Given the description of an element on the screen output the (x, y) to click on. 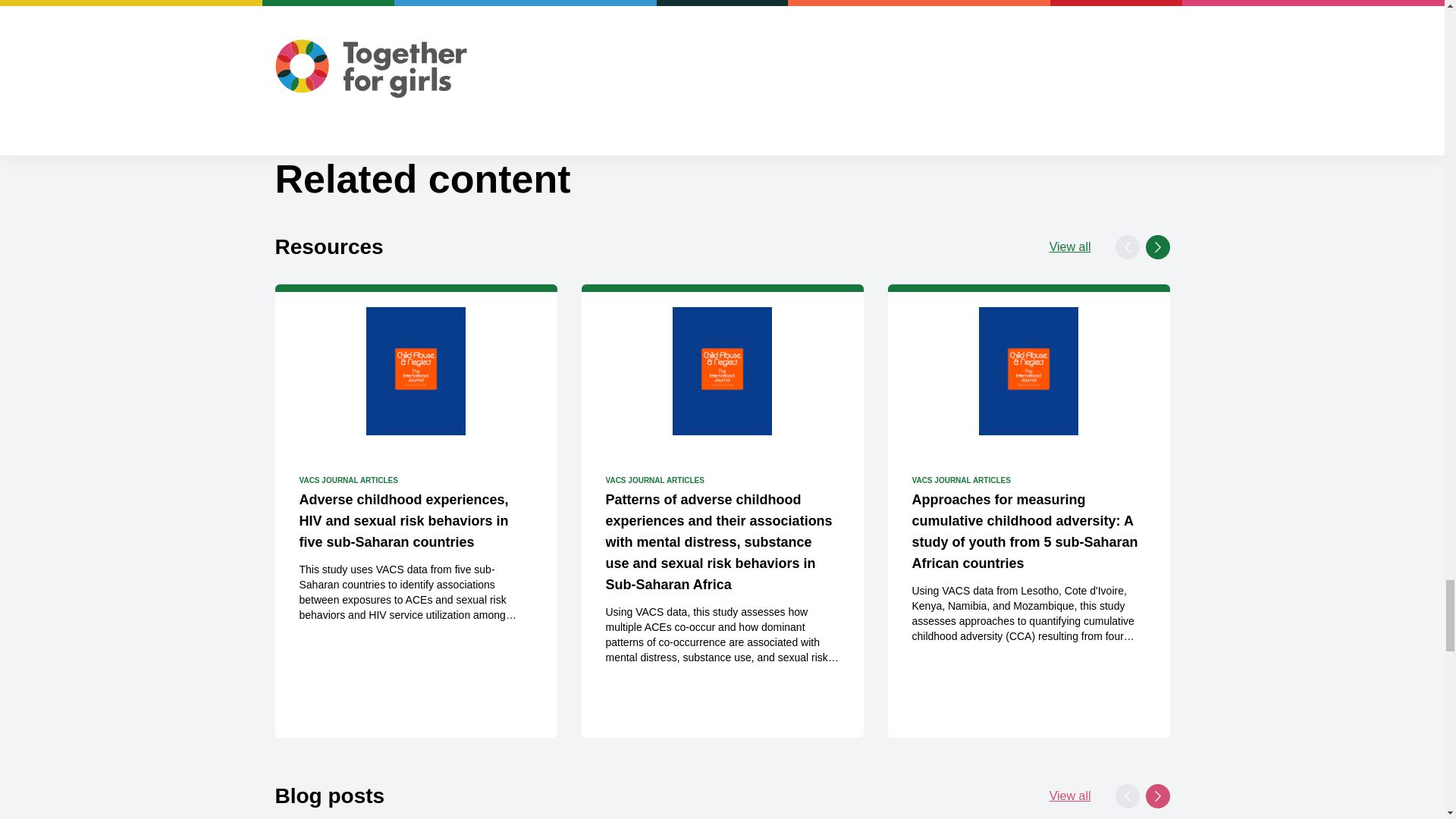
View all (1069, 247)
Move rightwards (1156, 795)
West and Central Africa (436, 7)
Move leftwards (1126, 795)
Move rightwards (1156, 247)
Move leftwards (1126, 247)
